Given the description of an element on the screen output the (x, y) to click on. 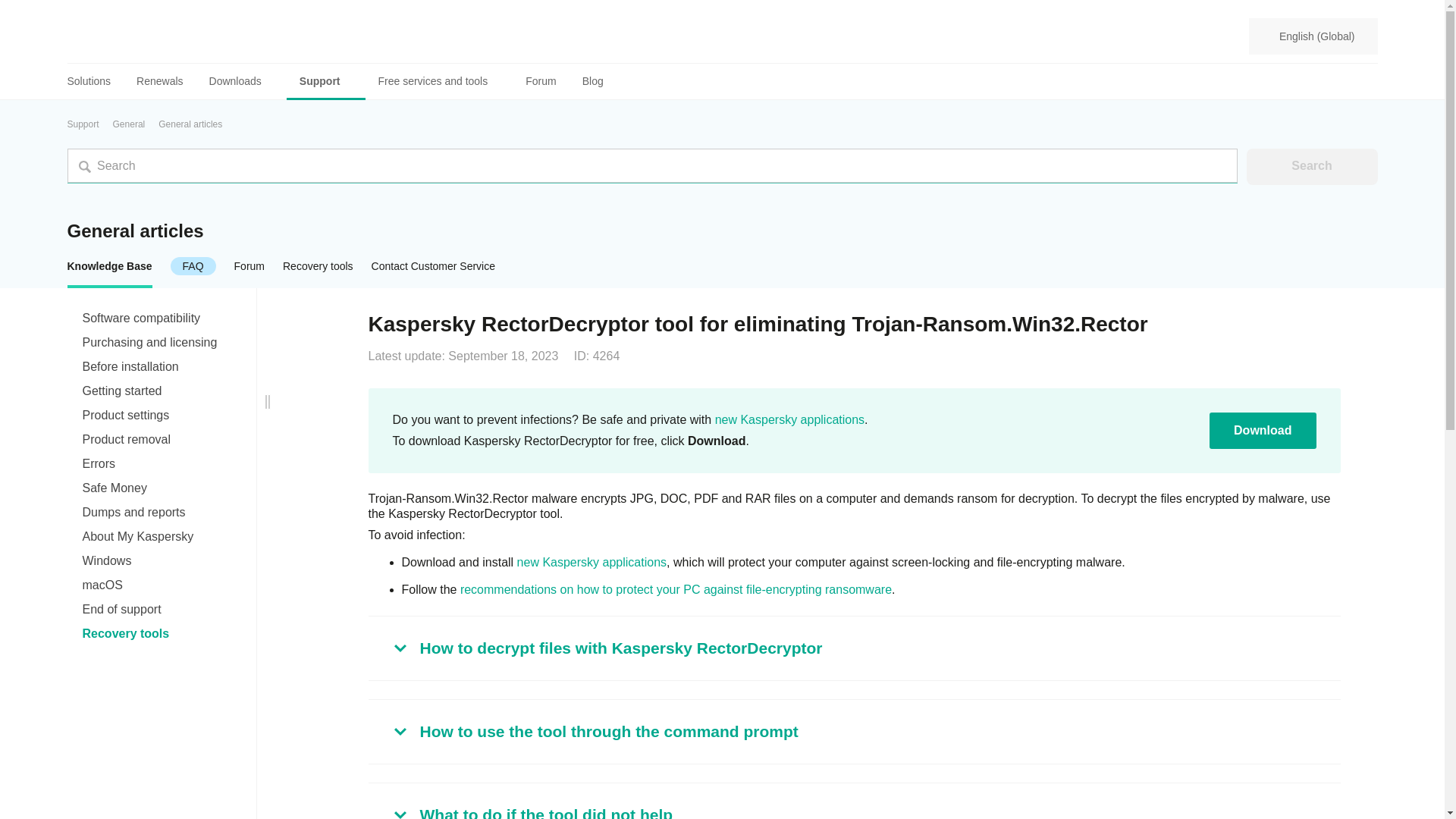
Free services and tools (439, 81)
Forum (540, 81)
Blog (592, 81)
Renewals (159, 81)
Support (325, 81)
Solutions (94, 81)
The Kaspersky website (789, 419)
The Kaspersky webiste (591, 562)
Kaspersky (122, 37)
Downloads (241, 81)
